Given the description of an element on the screen output the (x, y) to click on. 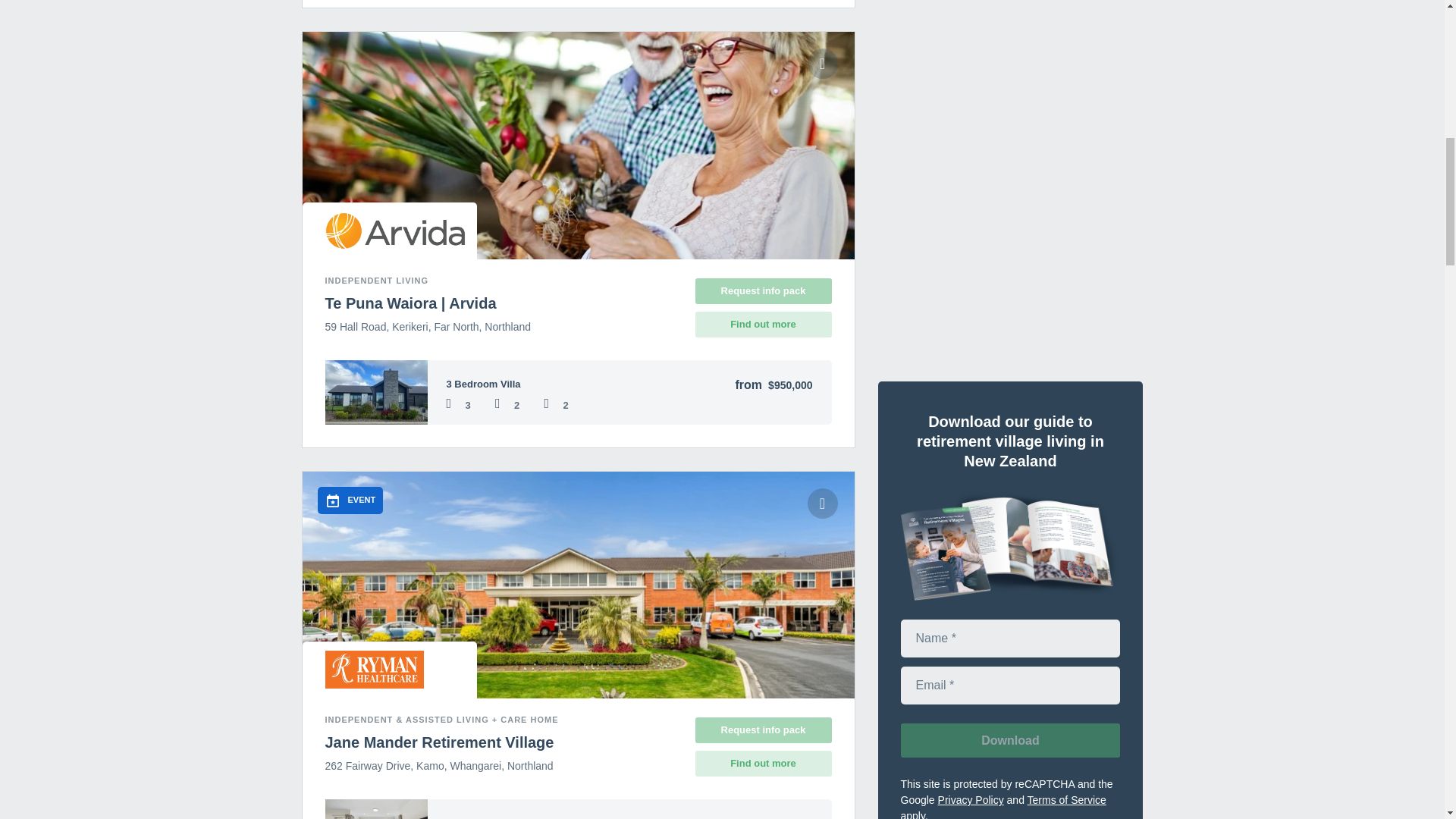
Favourite (821, 63)
Request info pack (762, 729)
Arvida Group logo (394, 230)
Find out more (762, 763)
Favourite (821, 503)
Ryman Healthcare logo (373, 669)
Find out more (762, 324)
Request info pack (762, 290)
